Given the description of an element on the screen output the (x, y) to click on. 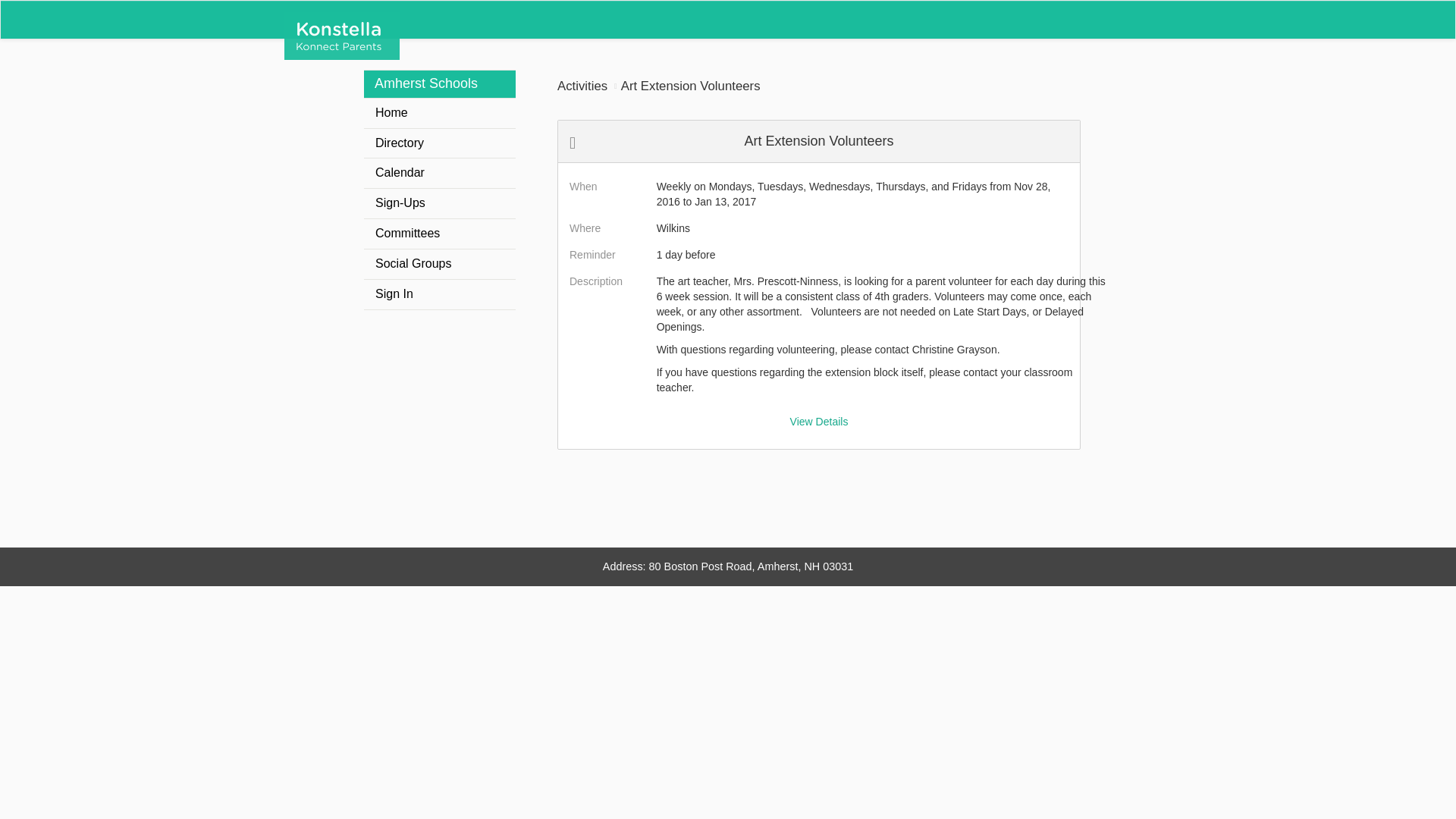
Sign In (439, 294)
Calendar (439, 173)
Committees (439, 233)
Home (439, 112)
View Details (819, 421)
Social Groups (439, 264)
Sign-Ups (439, 203)
Directory (439, 143)
